Given the description of an element on the screen output the (x, y) to click on. 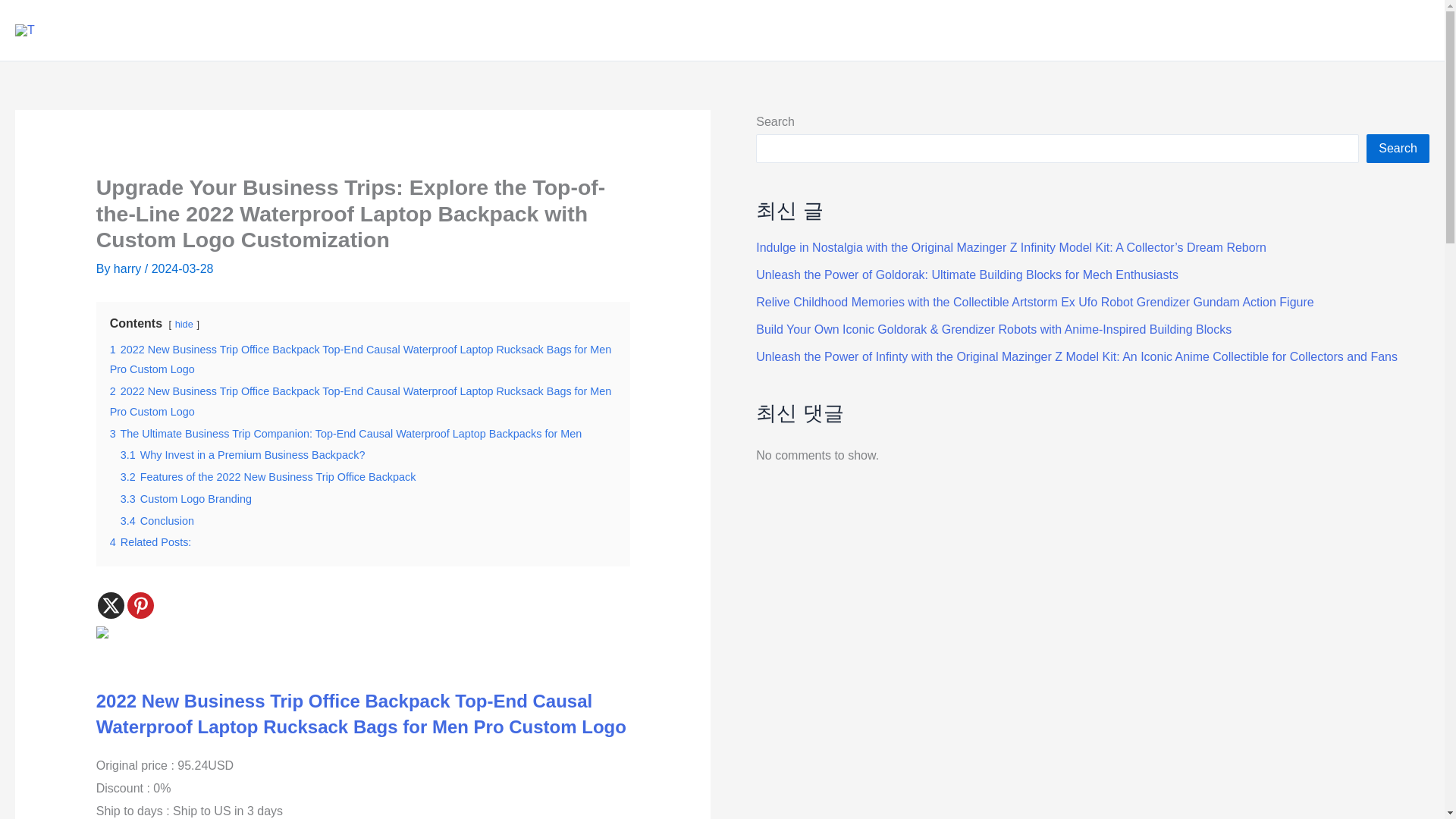
Pinterest (141, 605)
harry (128, 268)
3.1 Why Invest in a Premium Business Backpack? (242, 454)
hide (183, 324)
4 Related Posts: (151, 541)
View all posts by harry (128, 268)
Search (1398, 148)
3.4 Conclusion (156, 521)
